Given the description of an element on the screen output the (x, y) to click on. 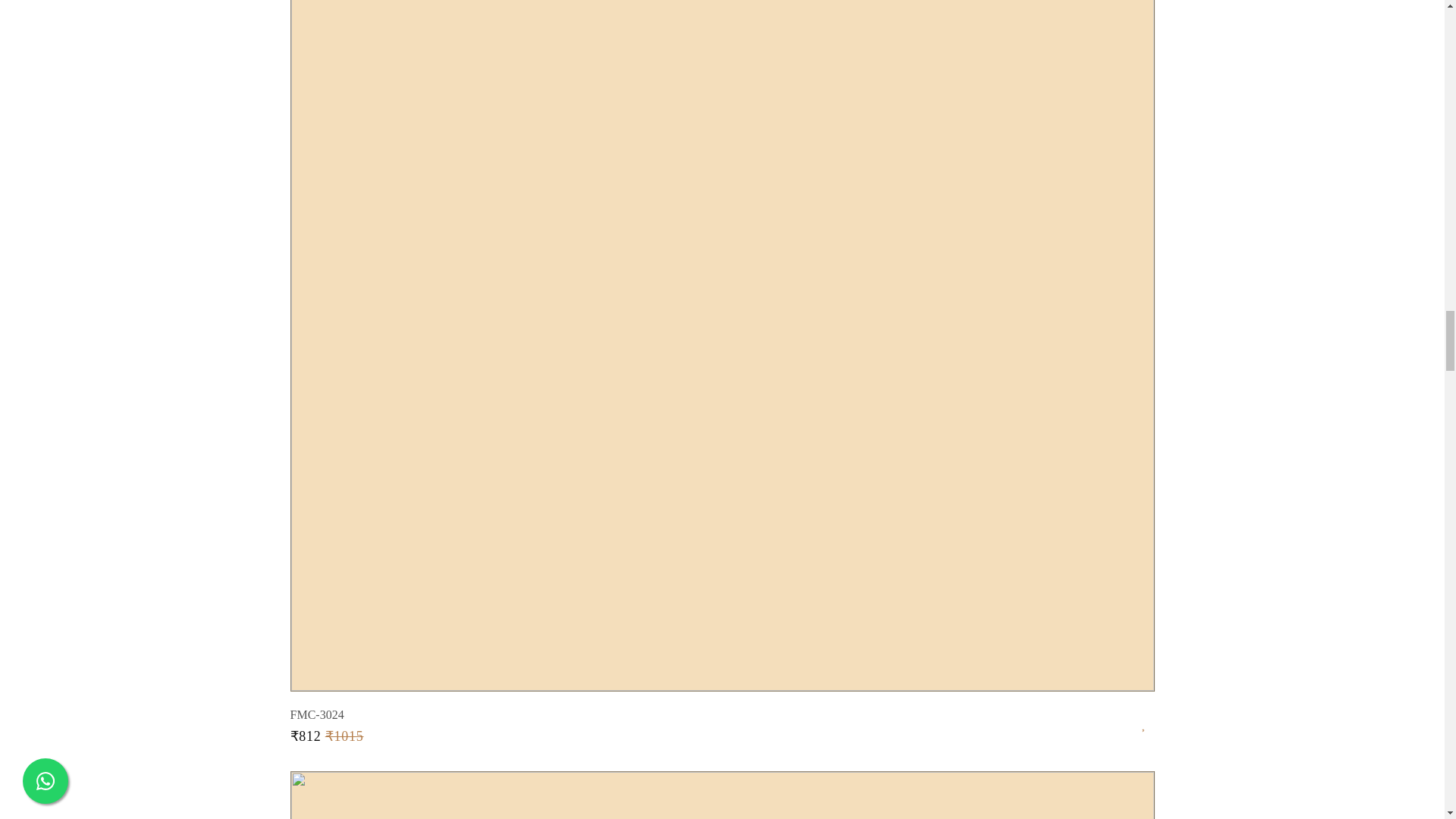
Add to Wishlist (1147, 719)
Add to Cart (722, 795)
